Given the description of an element on the screen output the (x, y) to click on. 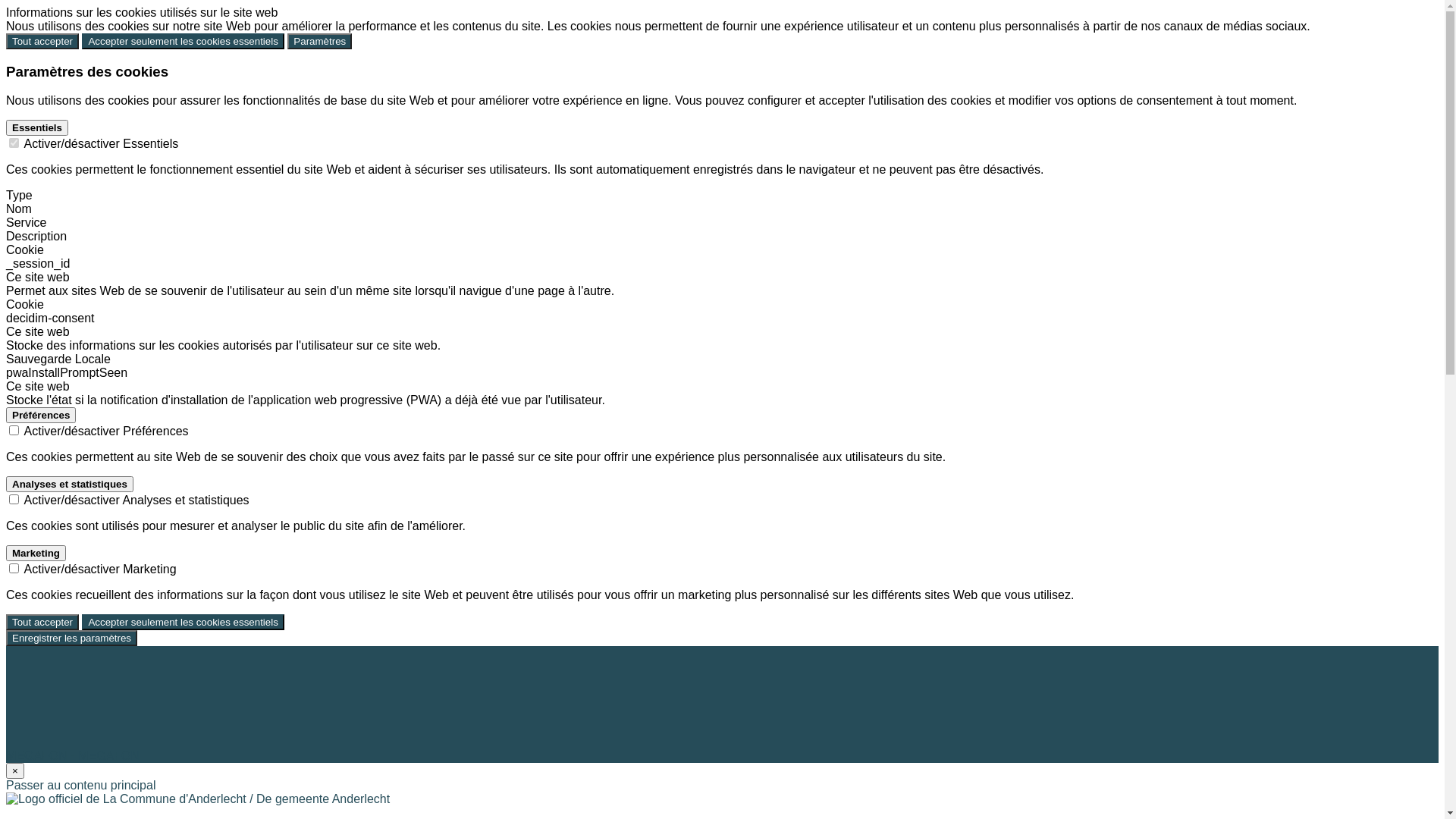
MEGAFON - MEGAFON media-play Element type: text (188, 755)
Essentiels Element type: text (37, 127)
Analyses et statistiques Element type: text (69, 484)
Accepter seulement les cookies essentiels Element type: text (182, 41)
Tout accepter Element type: text (42, 622)
Passer au contenu principal Element type: text (80, 784)
Tout accepter Element type: text (42, 41)
Accepter seulement les cookies essentiels Element type: text (182, 622)
Marketing Element type: text (35, 553)
